Given the description of an element on the screen output the (x, y) to click on. 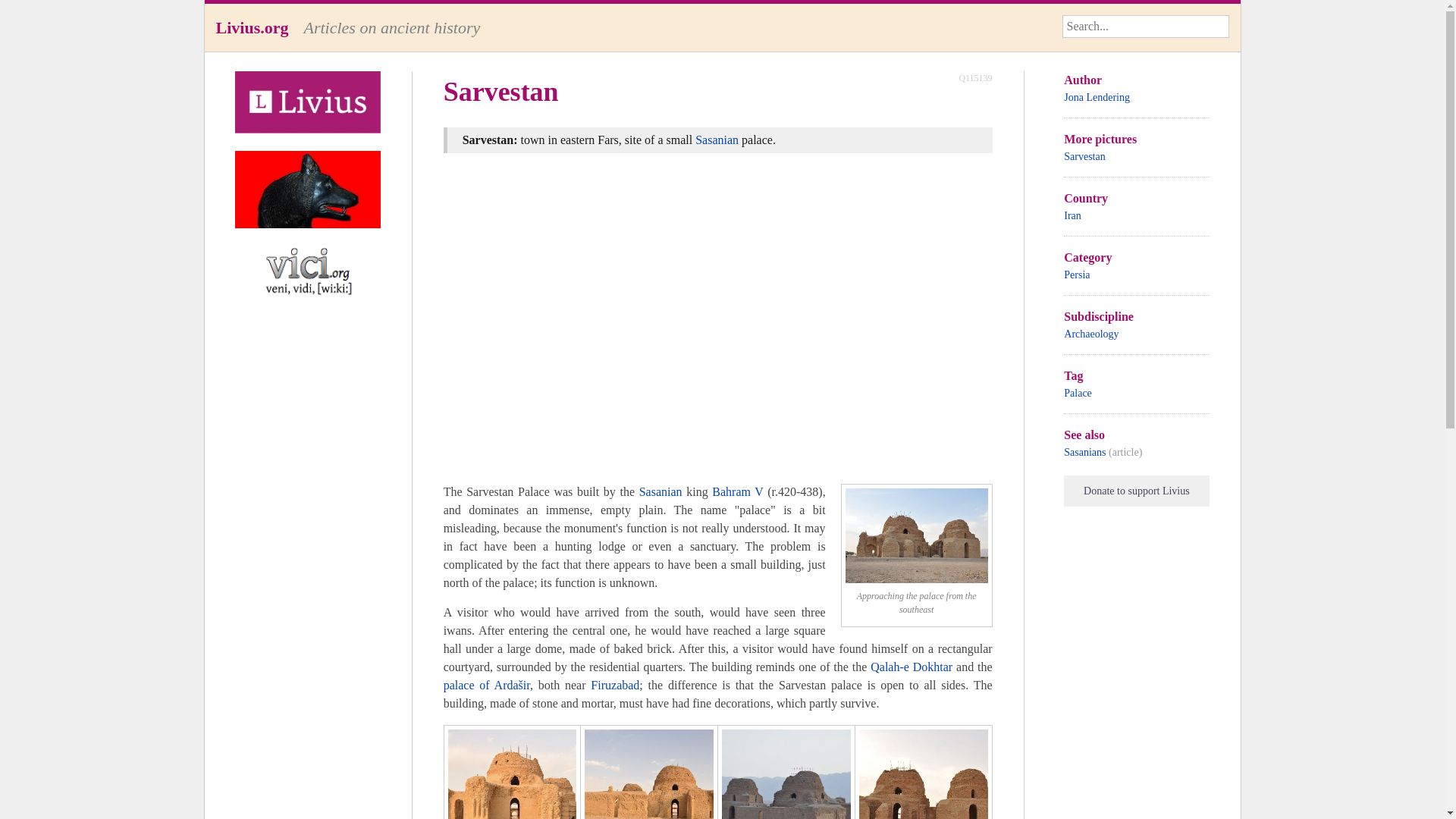
Firuzabad (615, 684)
Wikidata ID (974, 78)
Q115139 (974, 78)
Qalah-e Dokhtar (911, 666)
Livius.org (251, 27)
Sasanian (716, 139)
Sasanian (660, 491)
Bahram V (736, 491)
